Given the description of an element on the screen output the (x, y) to click on. 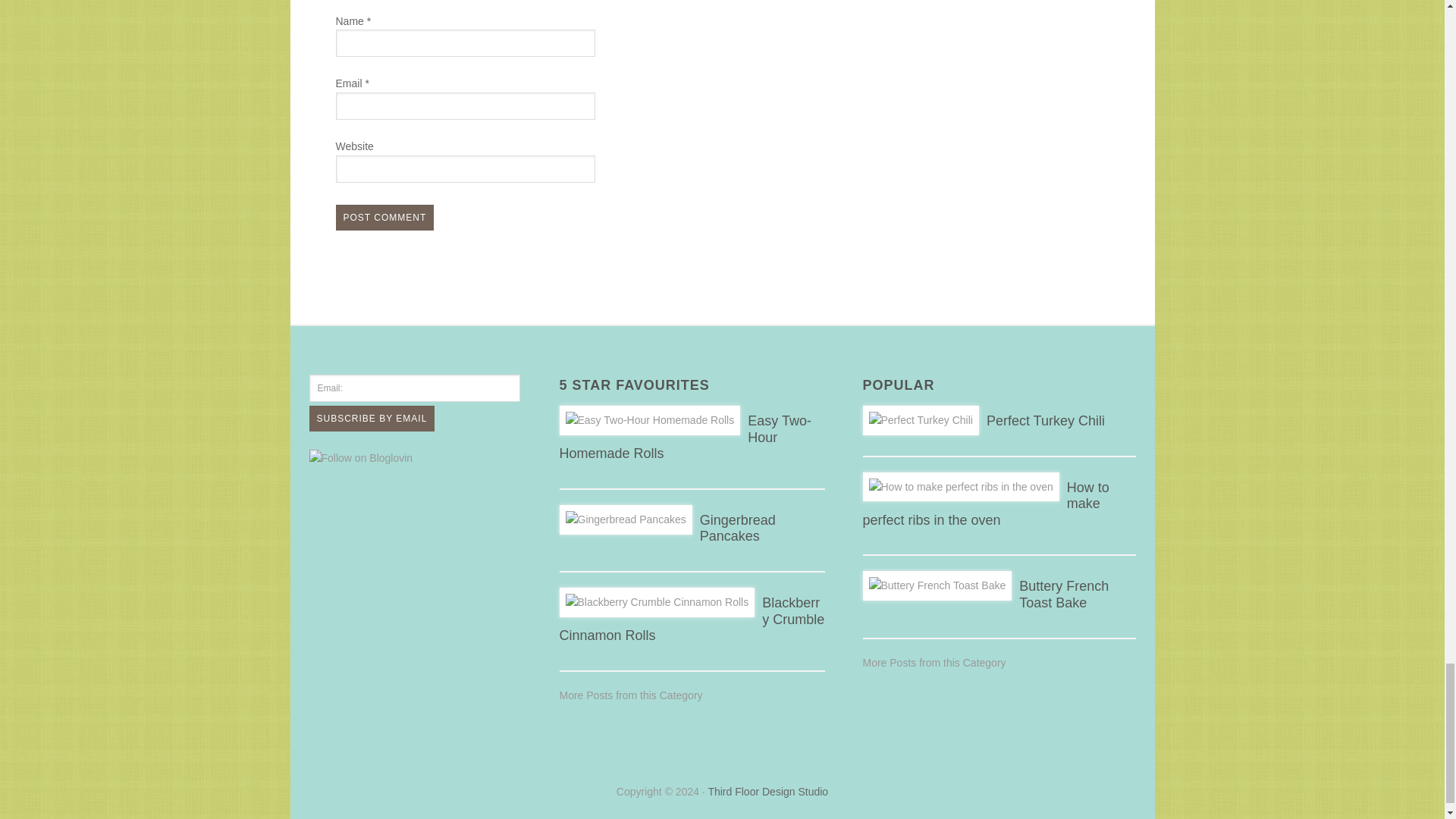
Popular (934, 662)
Post Comment (383, 217)
Follow hiddenponies on Bloglovin (360, 458)
Reader Favourites (631, 695)
Subscribe by Email (371, 418)
